Given the description of an element on the screen output the (x, y) to click on. 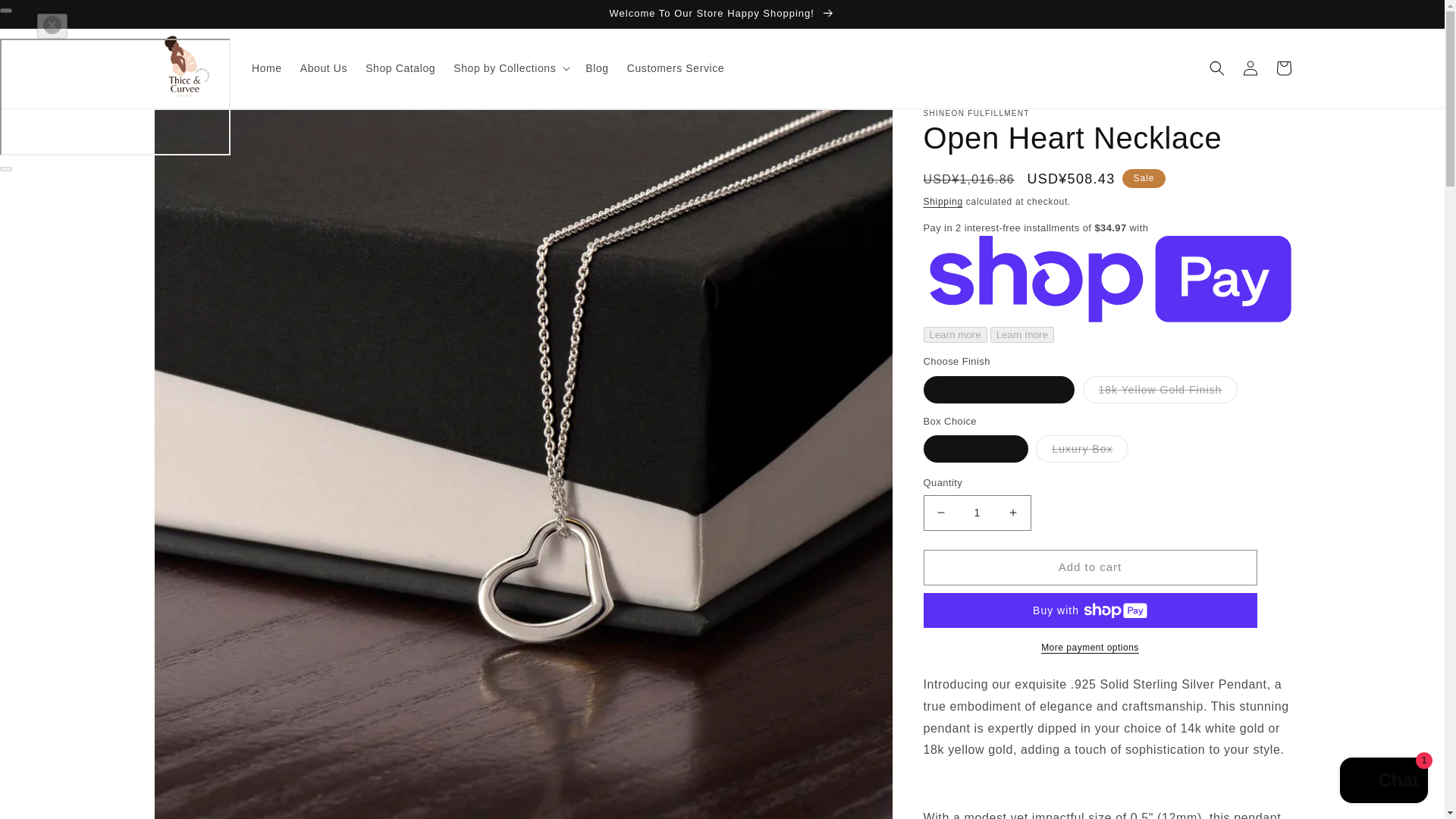
Shop Catalog (400, 68)
1 (976, 512)
Skip to content (45, 17)
Shopify online store chat (1383, 781)
About Us (323, 68)
Home (267, 68)
